Given the description of an element on the screen output the (x, y) to click on. 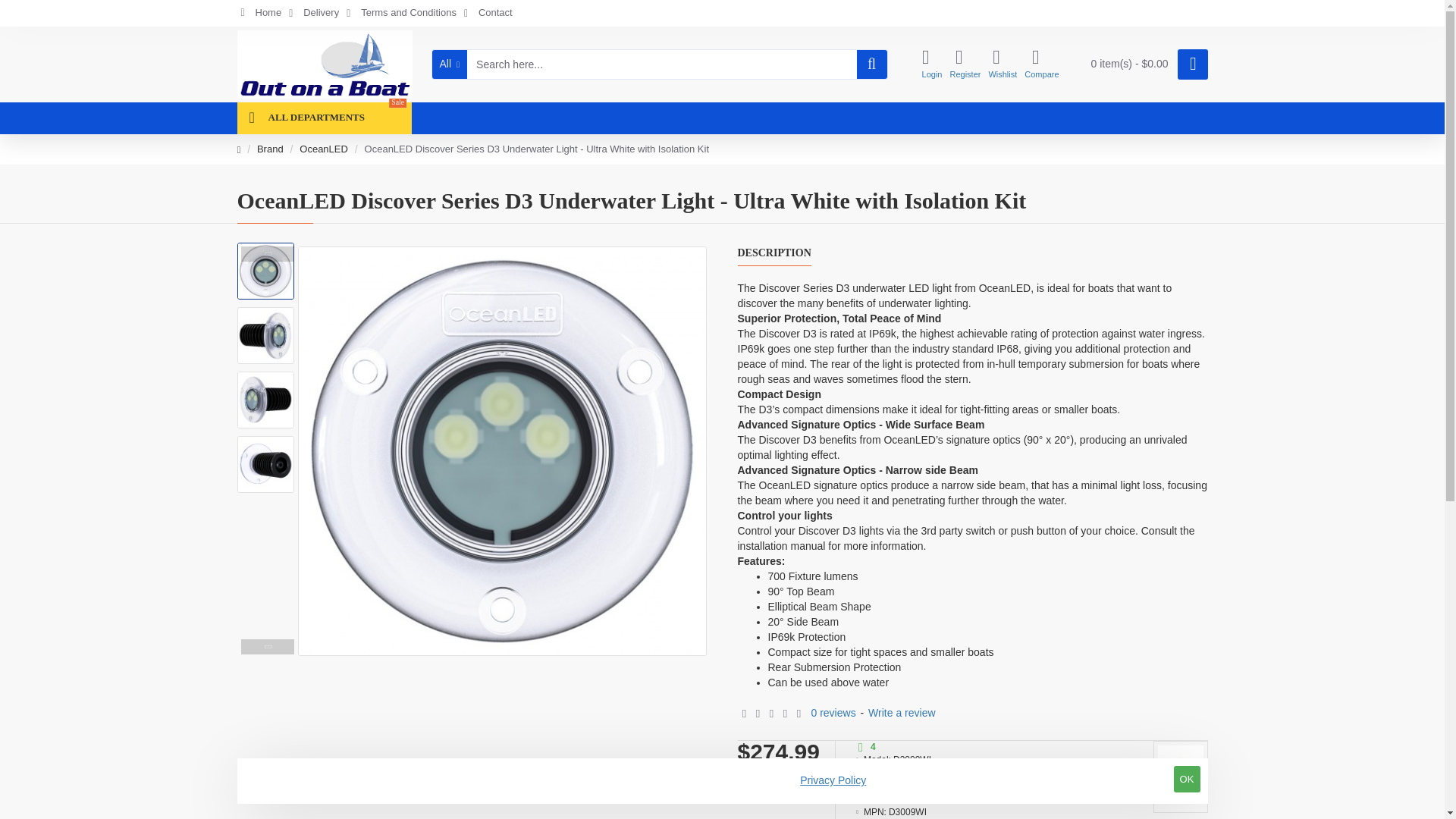
View Cart (1144, 64)
Compare (1041, 64)
Register (964, 64)
Out on a Boat (323, 64)
Home (260, 13)
Contact (488, 13)
